Given the description of an element on the screen output the (x, y) to click on. 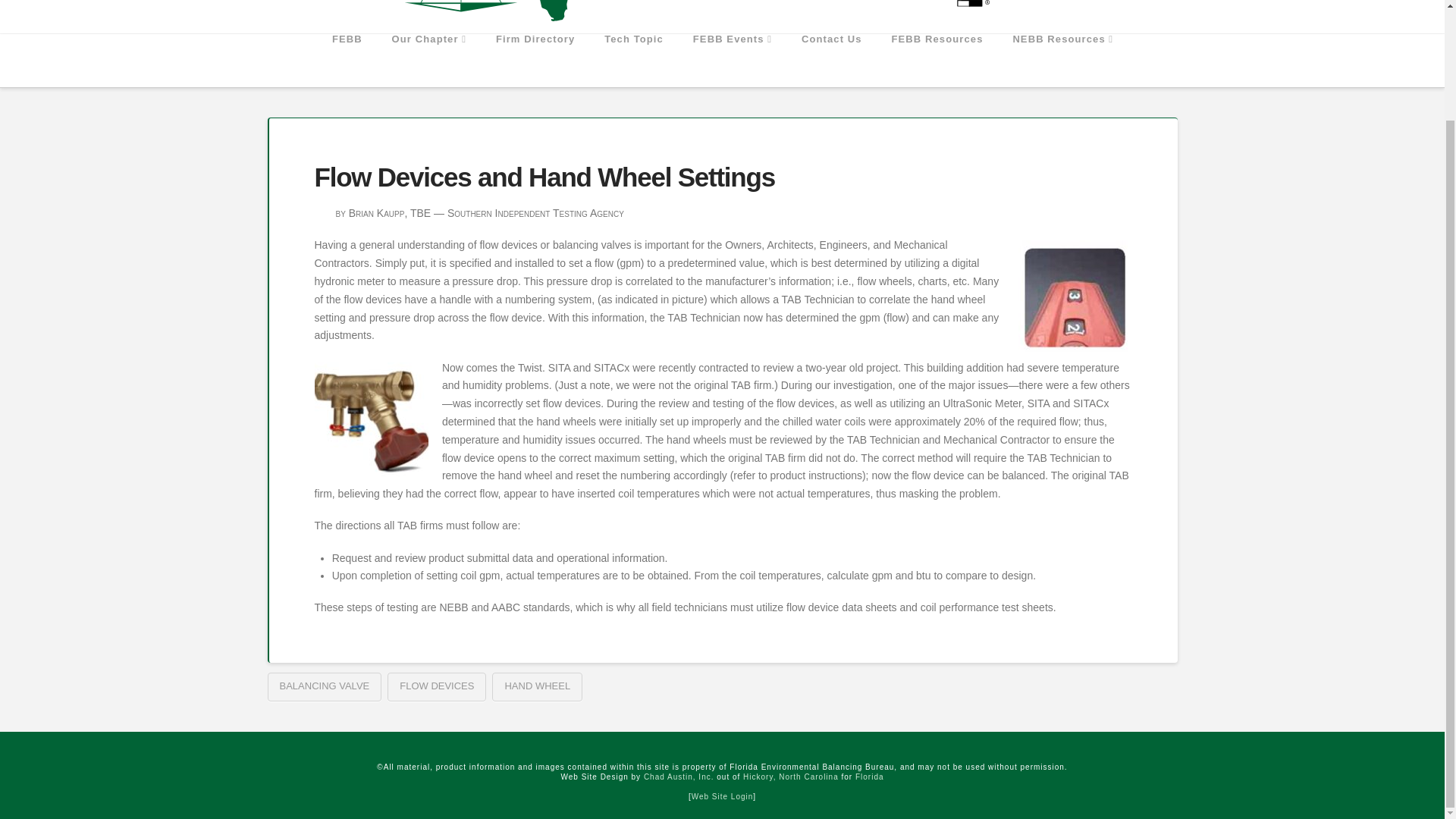
Tech Topic (633, 60)
Firm Directory (534, 60)
FEBB (347, 60)
FEBB Events (732, 60)
Our Chapter (428, 60)
Contact Us (831, 60)
FEBB Resources (936, 60)
NEBB Resources (1061, 60)
